Given the description of an element on the screen output the (x, y) to click on. 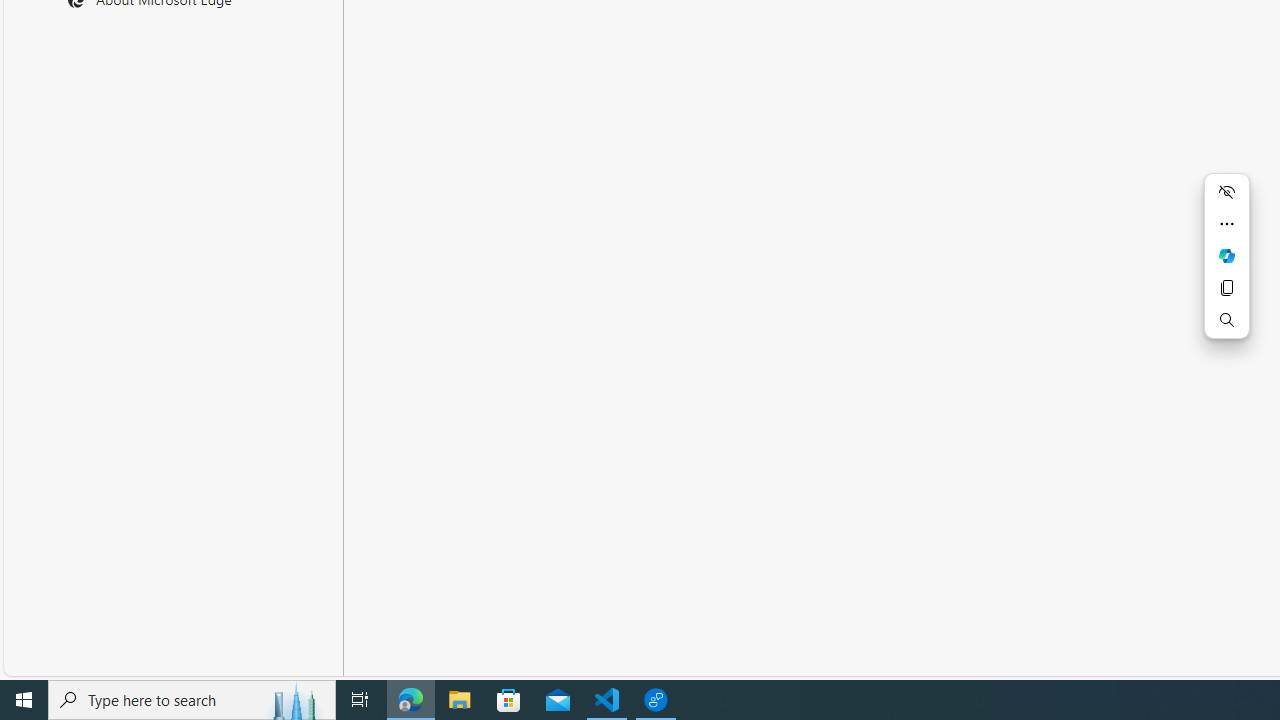
Hide menu (1226, 191)
More actions (1226, 223)
Mini menu on text selection (1226, 267)
Copy (1226, 287)
Ask Copilot (1226, 255)
Mini menu on text selection (1226, 255)
